Given the description of an element on the screen output the (x, y) to click on. 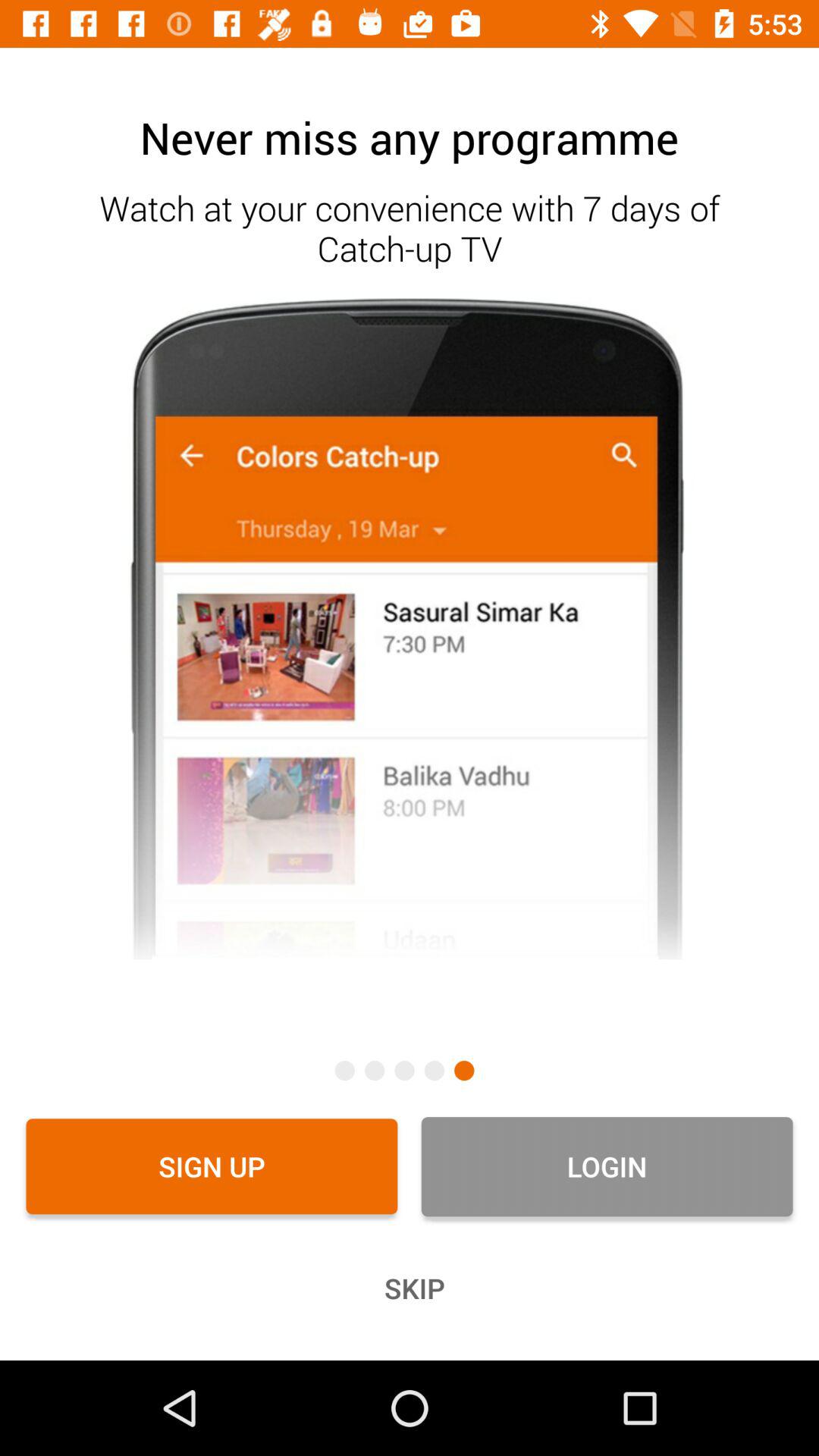
launch icon at the bottom right corner (606, 1166)
